Given the description of an element on the screen output the (x, y) to click on. 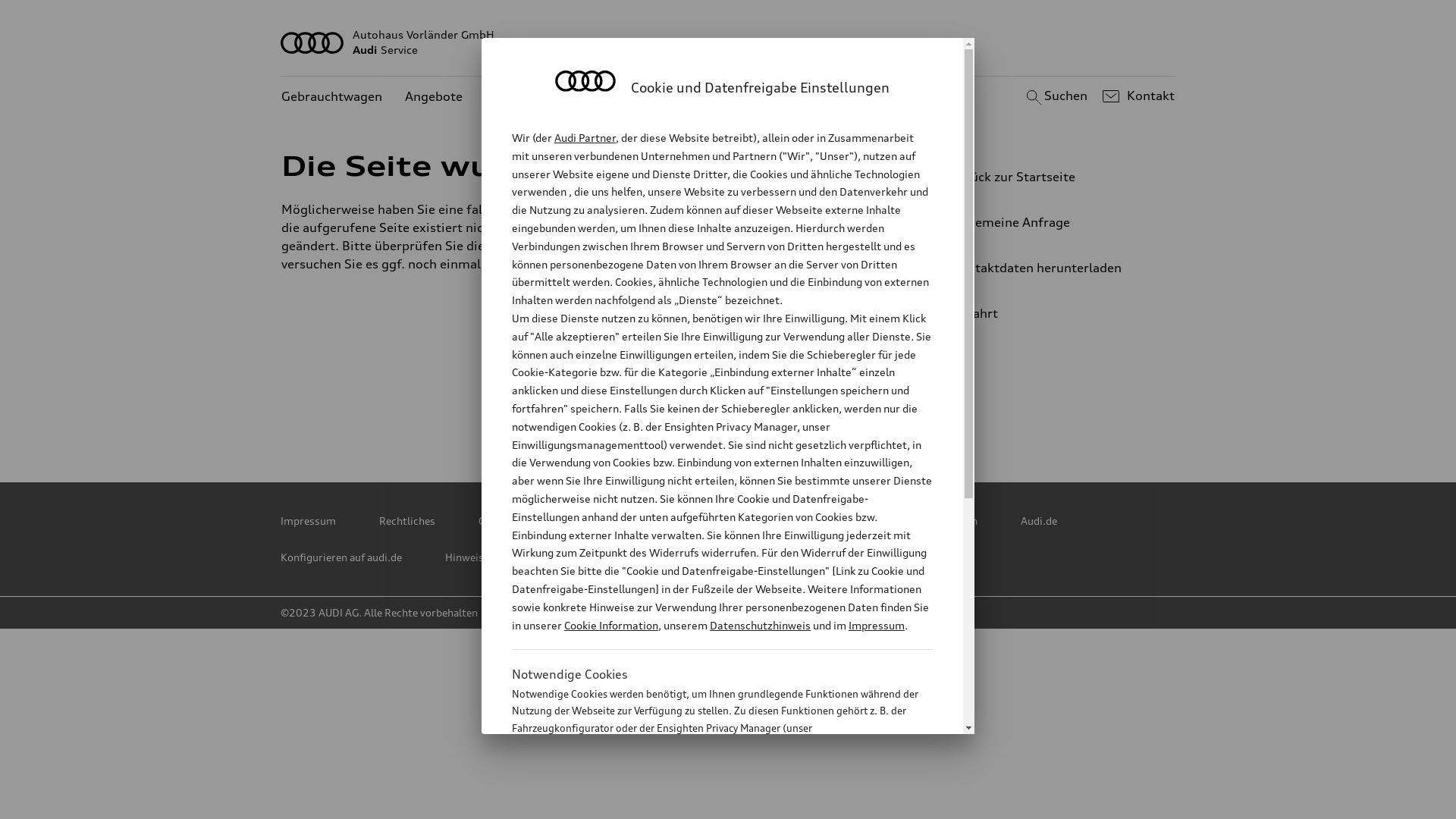
Cookie Information Element type: text (611, 624)
Hinweisgebersystem Element type: text (495, 557)
YouTube Element type: hover (796, 410)
Cookie Information Element type: text (705, 802)
Datenschutzhinweis Element type: text (759, 624)
Impressum Element type: text (307, 520)
Allgemeine Anfrage Element type: text (1043, 222)
Facebook Element type: hover (730, 410)
Audi Partner Element type: text (584, 137)
Kundenservice Element type: text (528, 96)
Anfahrt Element type: text (1049, 313)
Audi.de Element type: text (1038, 520)
Copyright & Haftungsausschluss Element type: text (557, 520)
Konfigurieren auf audi.de Element type: text (340, 557)
Gebrauchtwagen Element type: text (331, 96)
Angebote Element type: text (433, 96)
Twitter Element type: hover (596, 410)
Rechtliches Element type: text (407, 520)
Impressum Element type: text (876, 624)
Cookie Policy Element type: text (711, 520)
Cookie und Datenfreigabe Einstellungen Element type: text (881, 520)
Suchen Element type: text (1054, 96)
Kontakt Element type: text (1135, 96)
Pinterest Element type: hover (663, 410)
Kontaktdaten herunterladen Element type: text (1043, 267)
Instagram Element type: hover (863, 410)
